Given the description of an element on the screen output the (x, y) to click on. 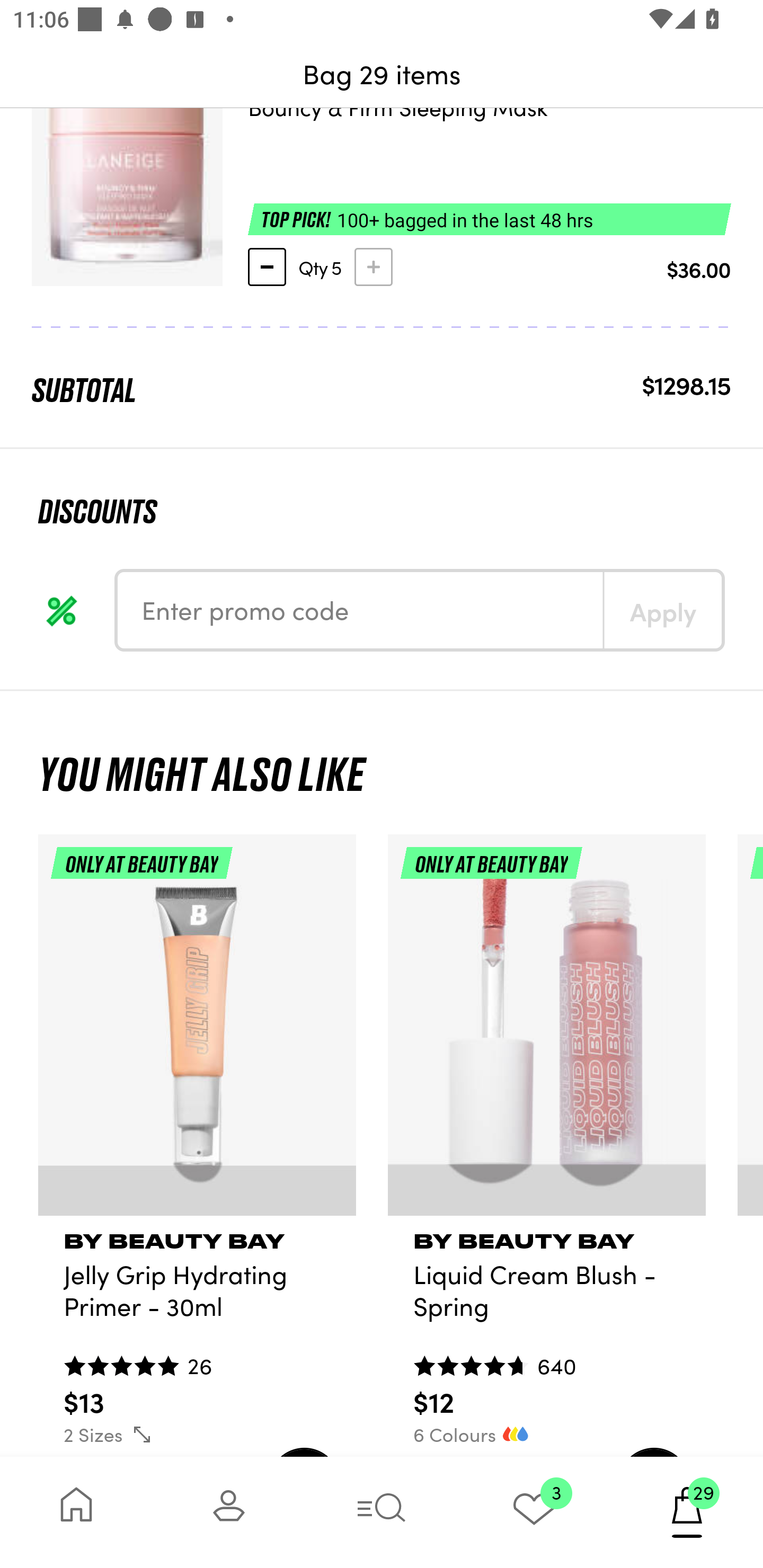
Enter promo code (360, 610)
Apply (661, 610)
ONLY AT BEAUTY BAY (197, 1032)
ONLY AT BEAUTY BAY (546, 1032)
3 (533, 1512)
29 (686, 1512)
